Given the description of an element on the screen output the (x, y) to click on. 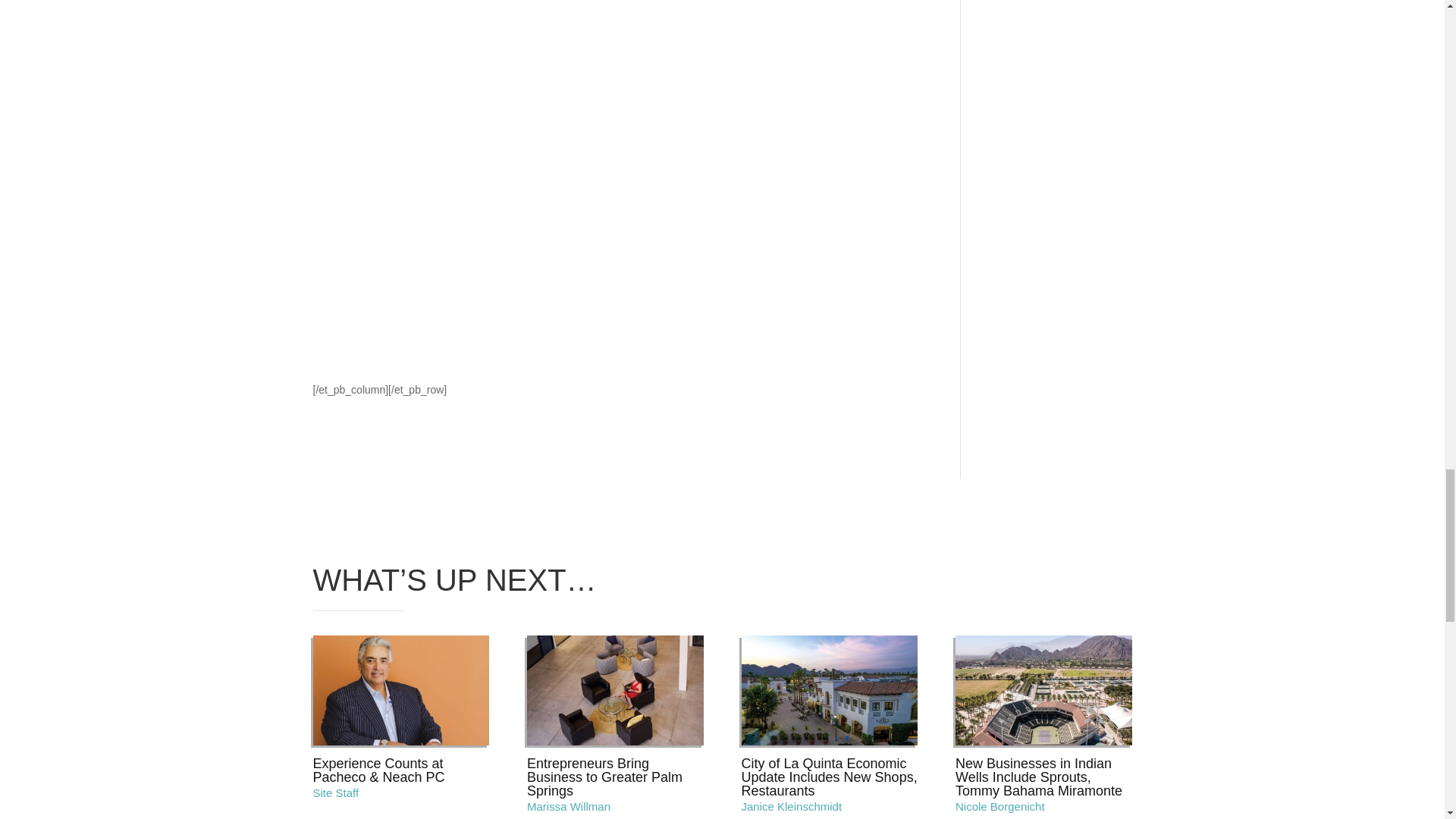
Posts by Nicole Borgenicht (1000, 806)
Posts by Marissa Willman (568, 806)
Posts by Janice Kleinschmidt (792, 806)
Posts by Site Staff (335, 792)
